Given the description of an element on the screen output the (x, y) to click on. 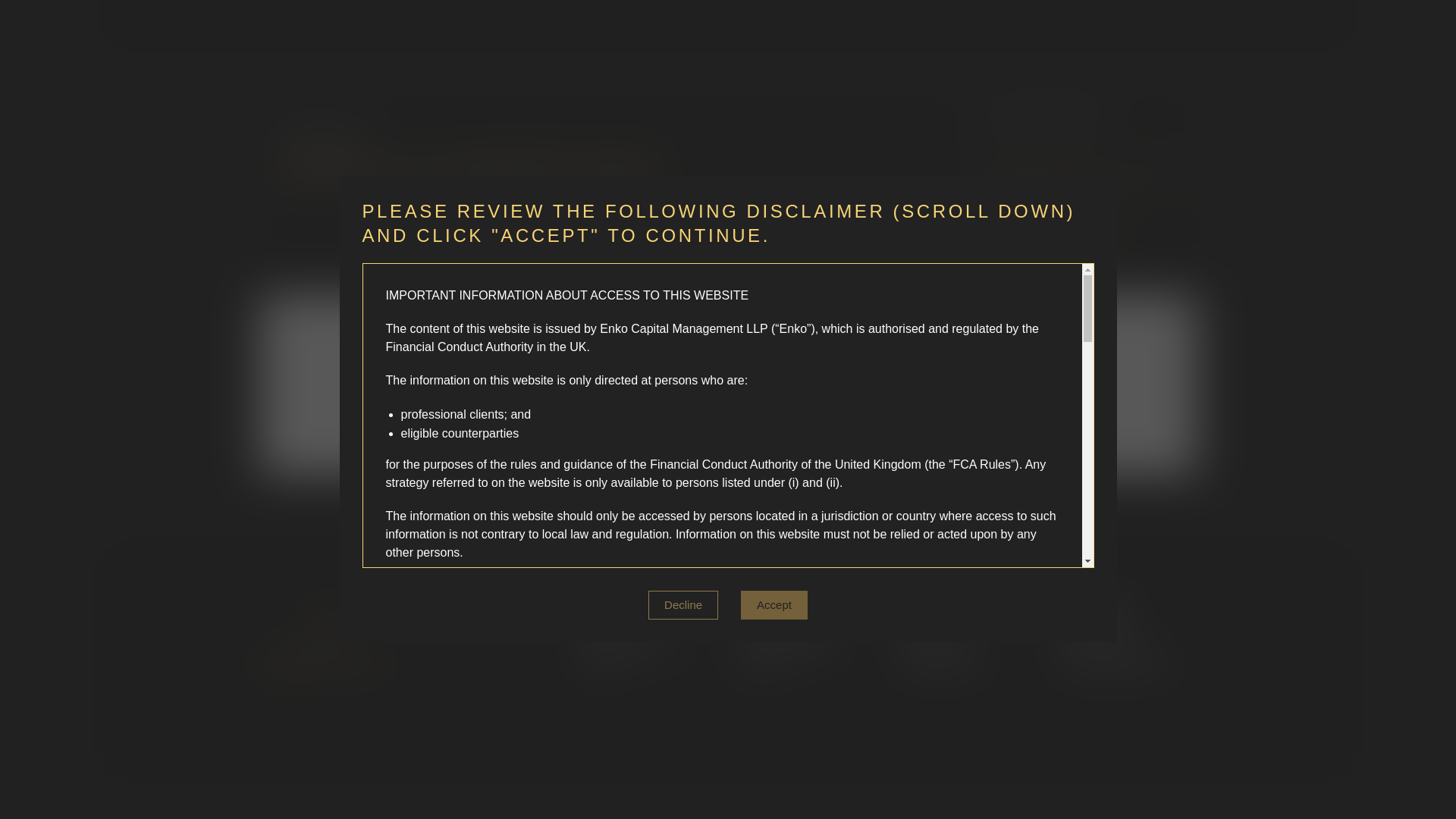
Open entire artwork (1057, 233)
BACK TO ALL NEWS (1086, 117)
Next (913, 392)
Decline (682, 458)
Raise a Grievance (727, 507)
Art by Aboudia Abdoulaye Diarrassouba (1085, 180)
Accept (774, 458)
